Given the description of an element on the screen output the (x, y) to click on. 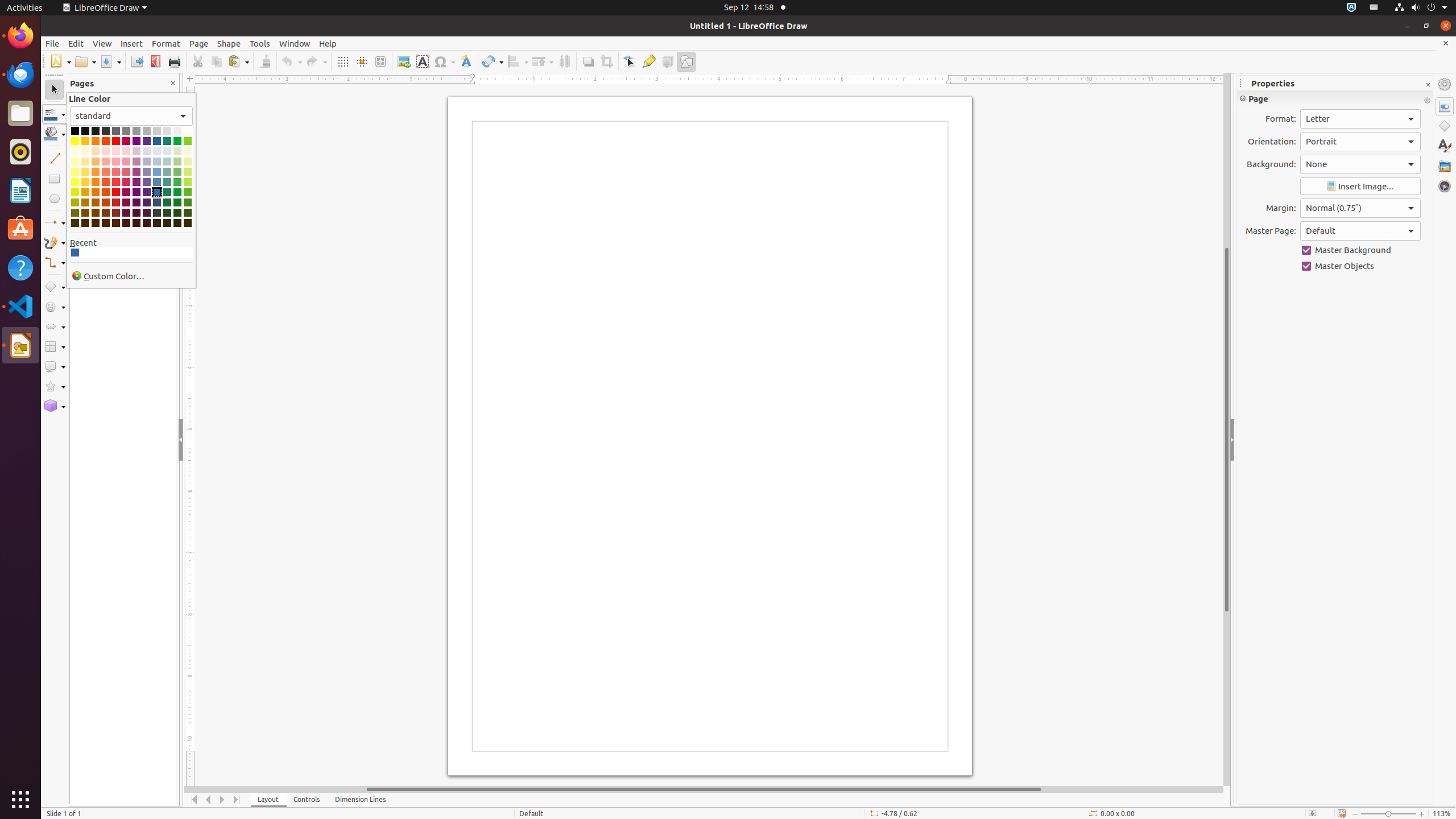
Draw Functions Element type: toggle-button (685, 61)
Dark Red 3 Element type: list-item (115, 212)
Properties Element type: radio-button (1444, 106)
